Given the description of an element on the screen output the (x, y) to click on. 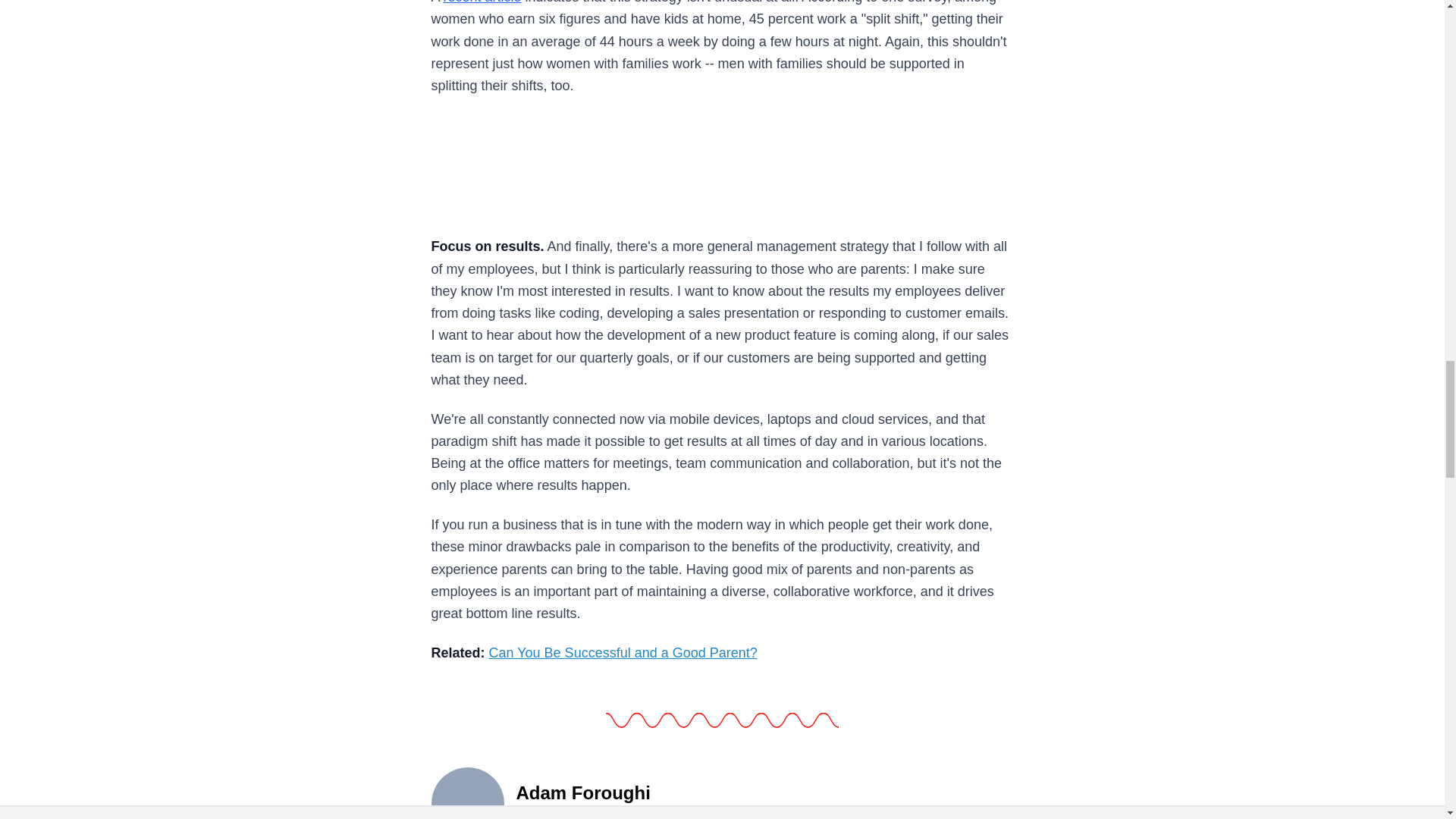
Adam Foroughi (466, 791)
